Given the description of an element on the screen output the (x, y) to click on. 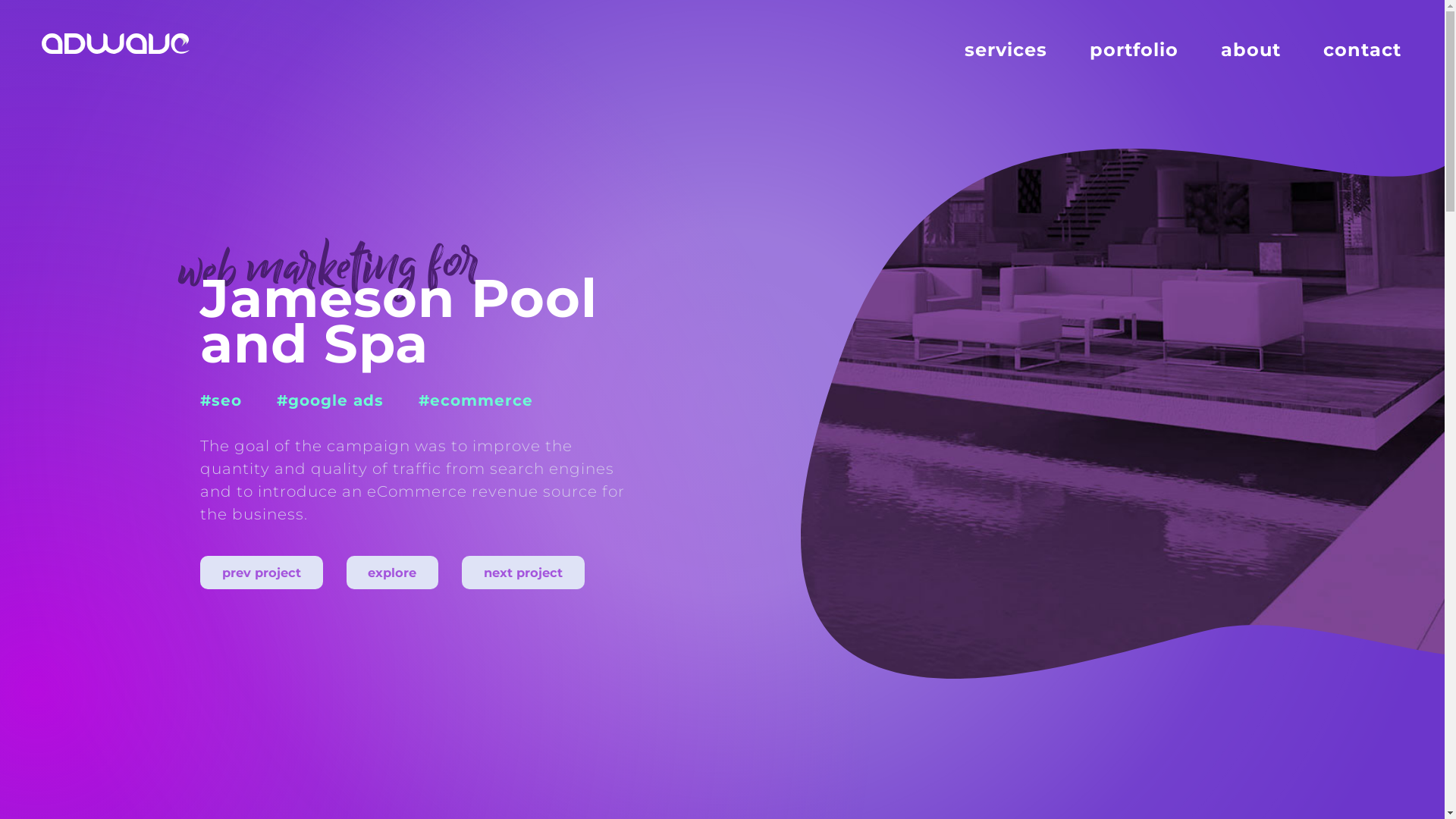
next project Element type: text (522, 572)
prev project Element type: text (261, 572)
services Element type: text (1005, 49)
contact Element type: text (1362, 49)
portfolio Element type: text (1133, 49)
explore Element type: text (392, 572)
about Element type: text (1250, 49)
